Given the description of an element on the screen output the (x, y) to click on. 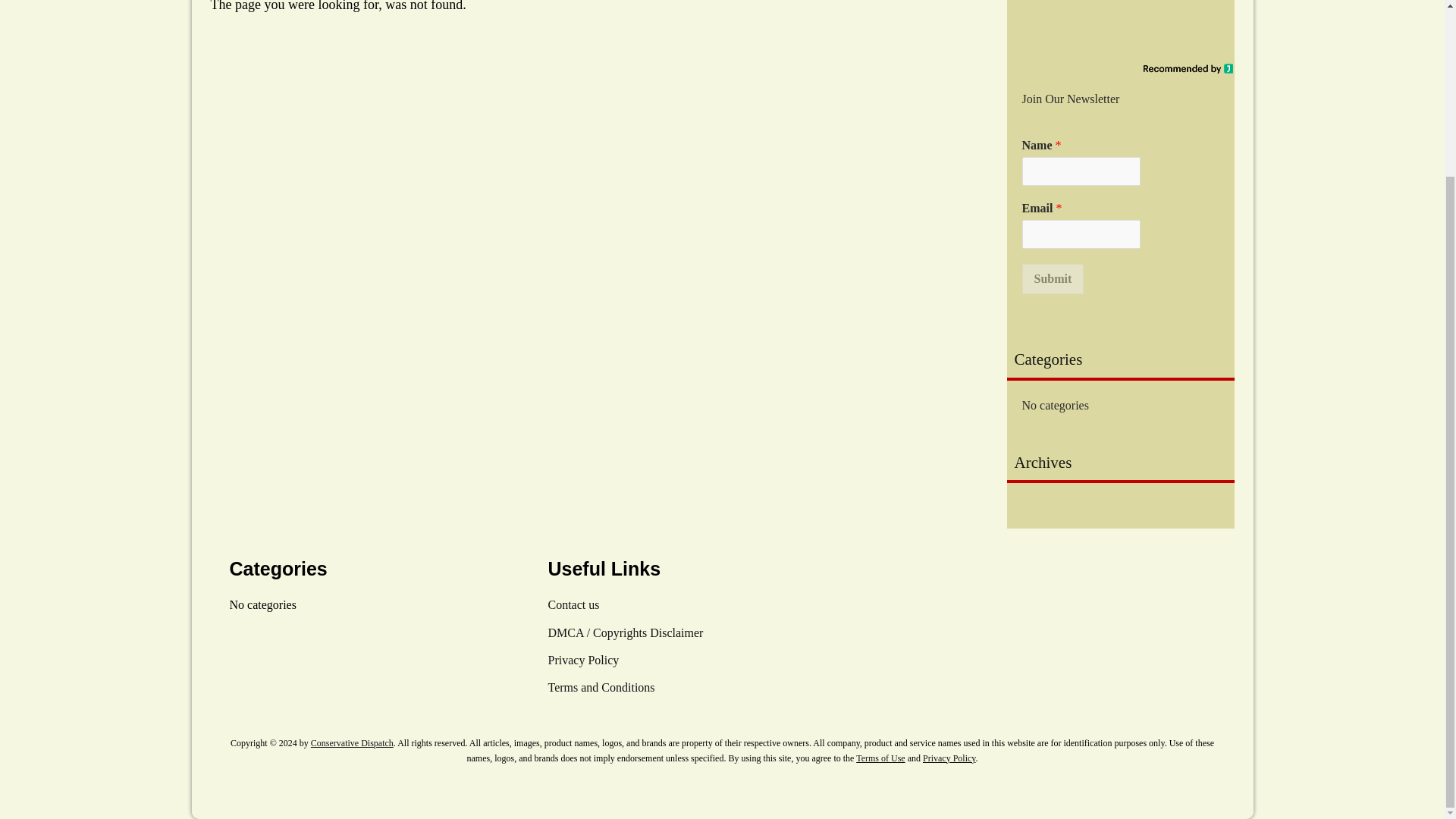
Conservative Dispatch (352, 742)
Contact us (572, 604)
Privacy Policy (949, 757)
Submit (1053, 278)
Terms of Use (880, 757)
Terms and Conditions (600, 686)
Privacy Policy (582, 659)
